Given the description of an element on the screen output the (x, y) to click on. 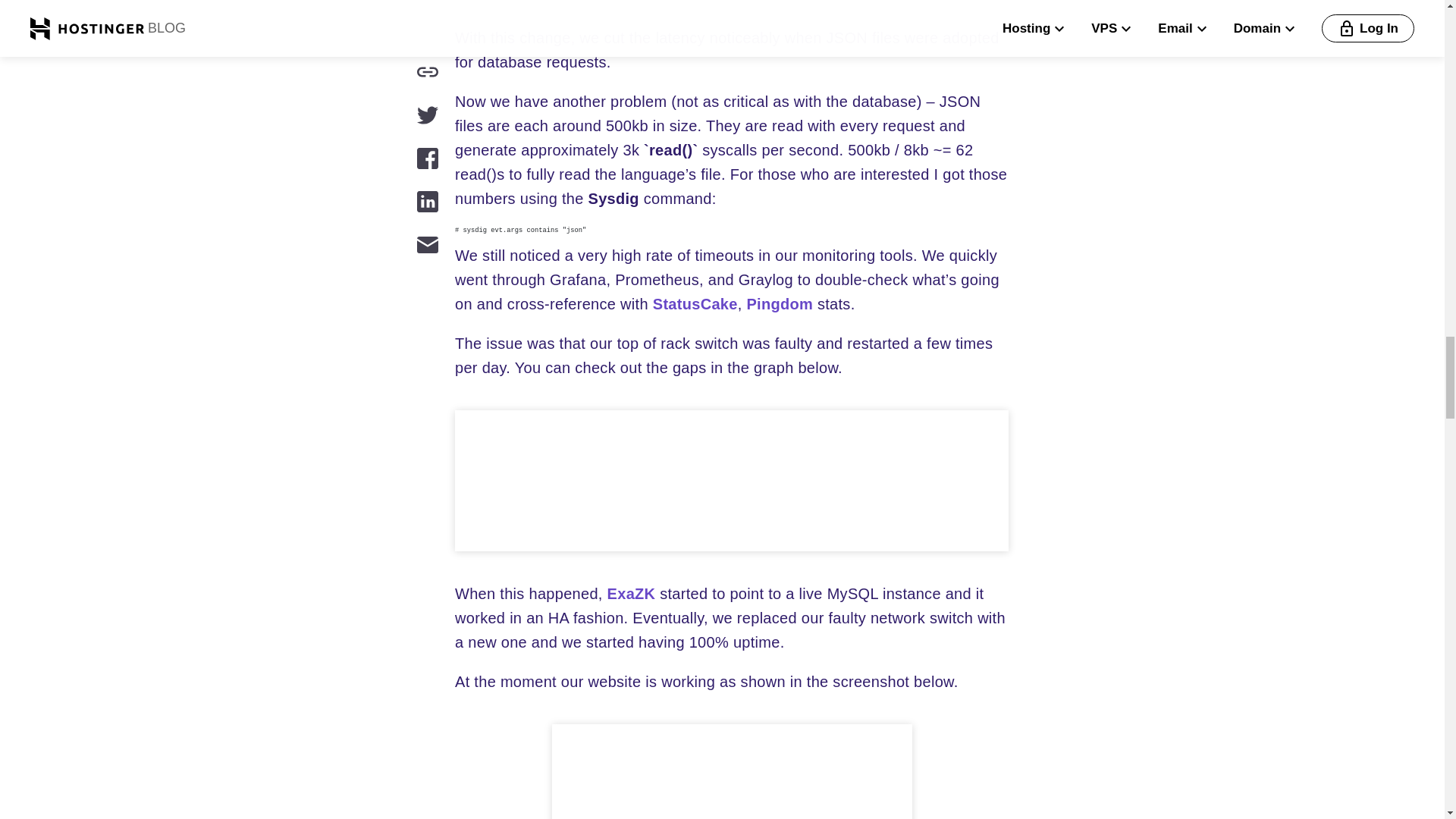
StatusCake (695, 303)
Pingdom (778, 303)
ExaZK (631, 593)
